Given the description of an element on the screen output the (x, y) to click on. 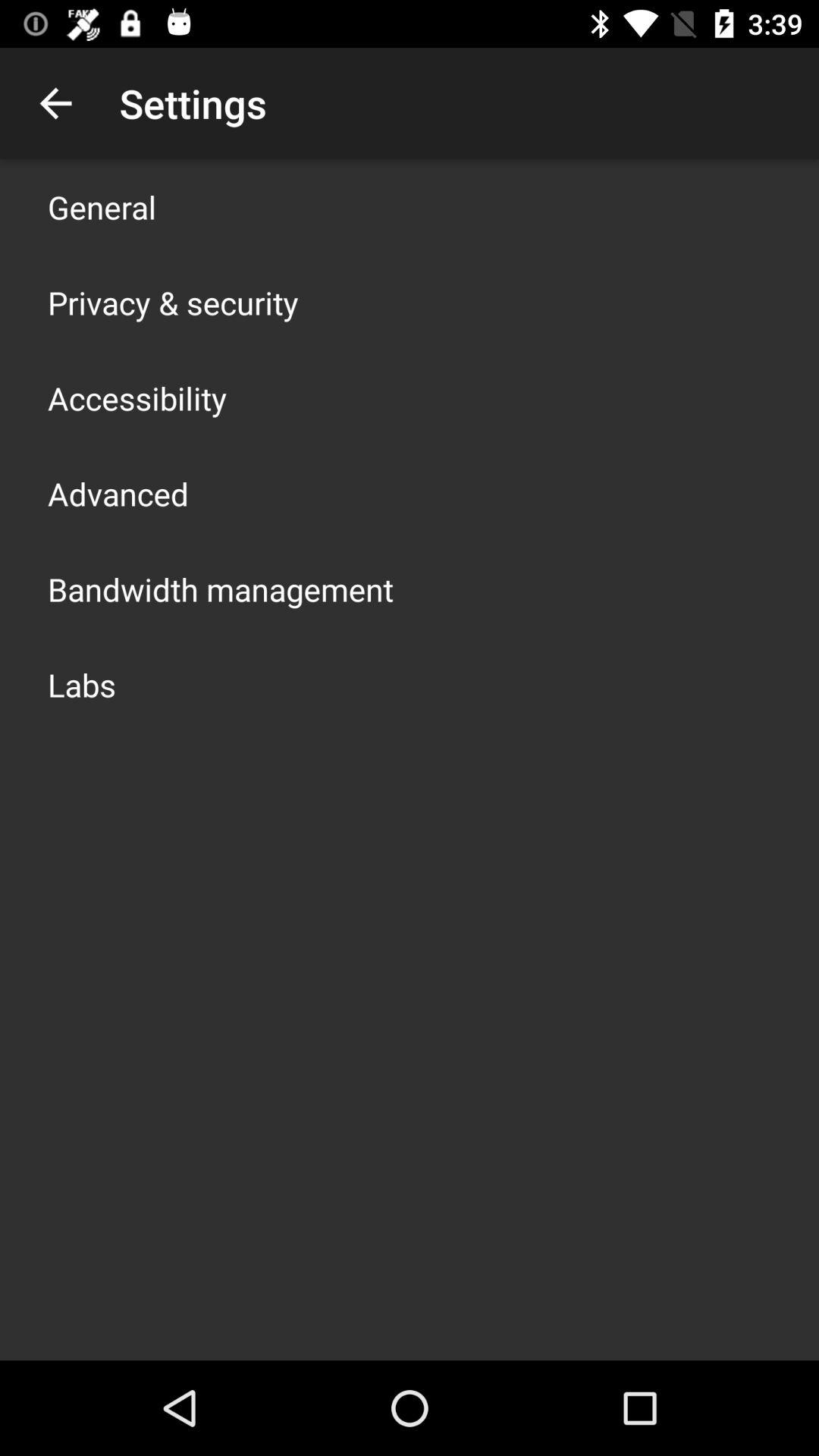
turn on the accessibility item (136, 397)
